Given the description of an element on the screen output the (x, y) to click on. 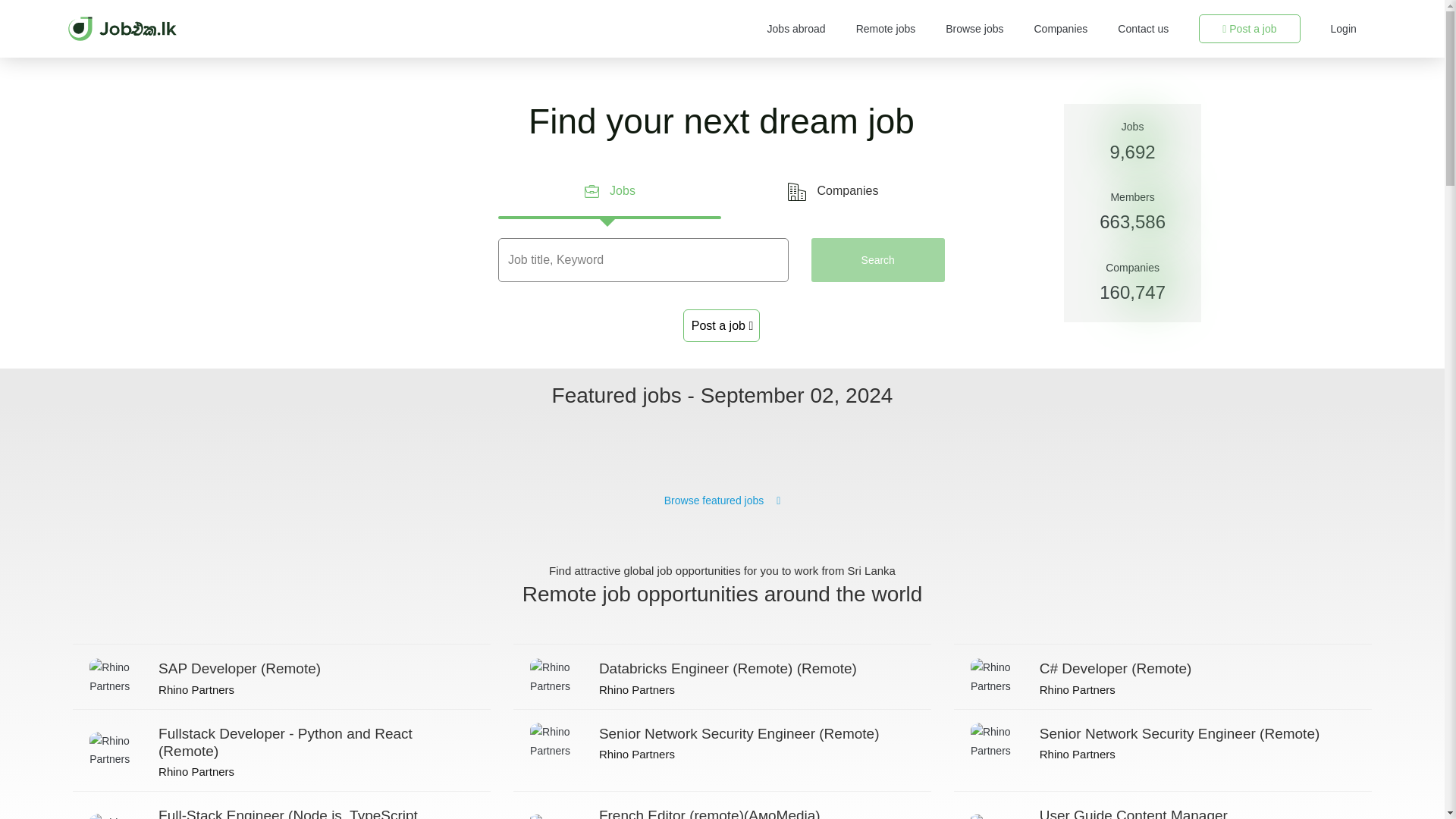
Browse jobs (973, 28)
Companies (1060, 28)
Jobs (608, 191)
Post a job (1249, 28)
Contact us (1143, 28)
Login (1343, 28)
Browse featured jobs (722, 500)
Remote jobs (1162, 805)
Post a job (885, 28)
